Given the description of an element on the screen output the (x, y) to click on. 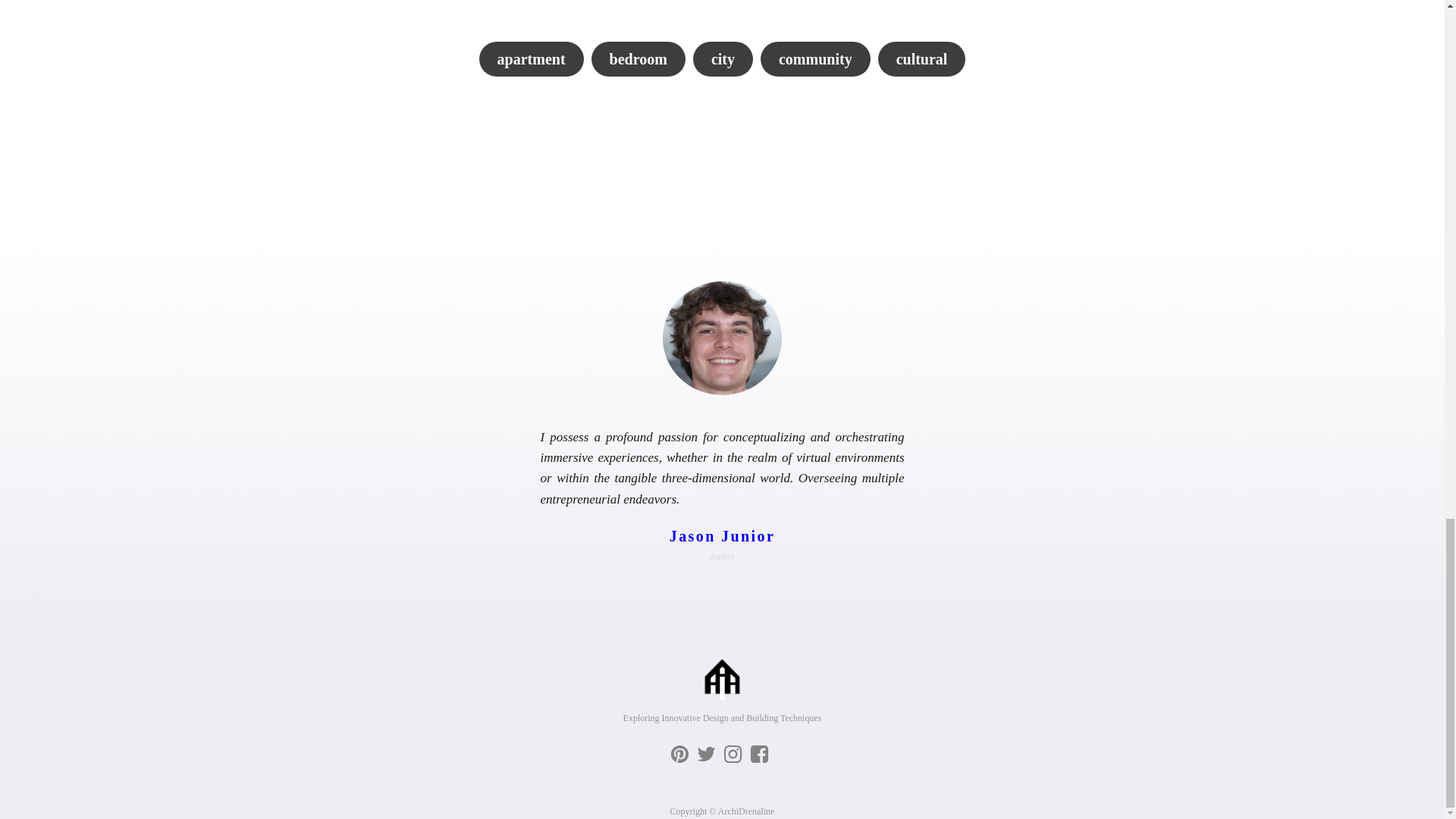
Jason Junior (721, 535)
cultural (921, 58)
bedroom (638, 58)
community (815, 58)
apartment (531, 58)
city (722, 58)
